Given the description of an element on the screen output the (x, y) to click on. 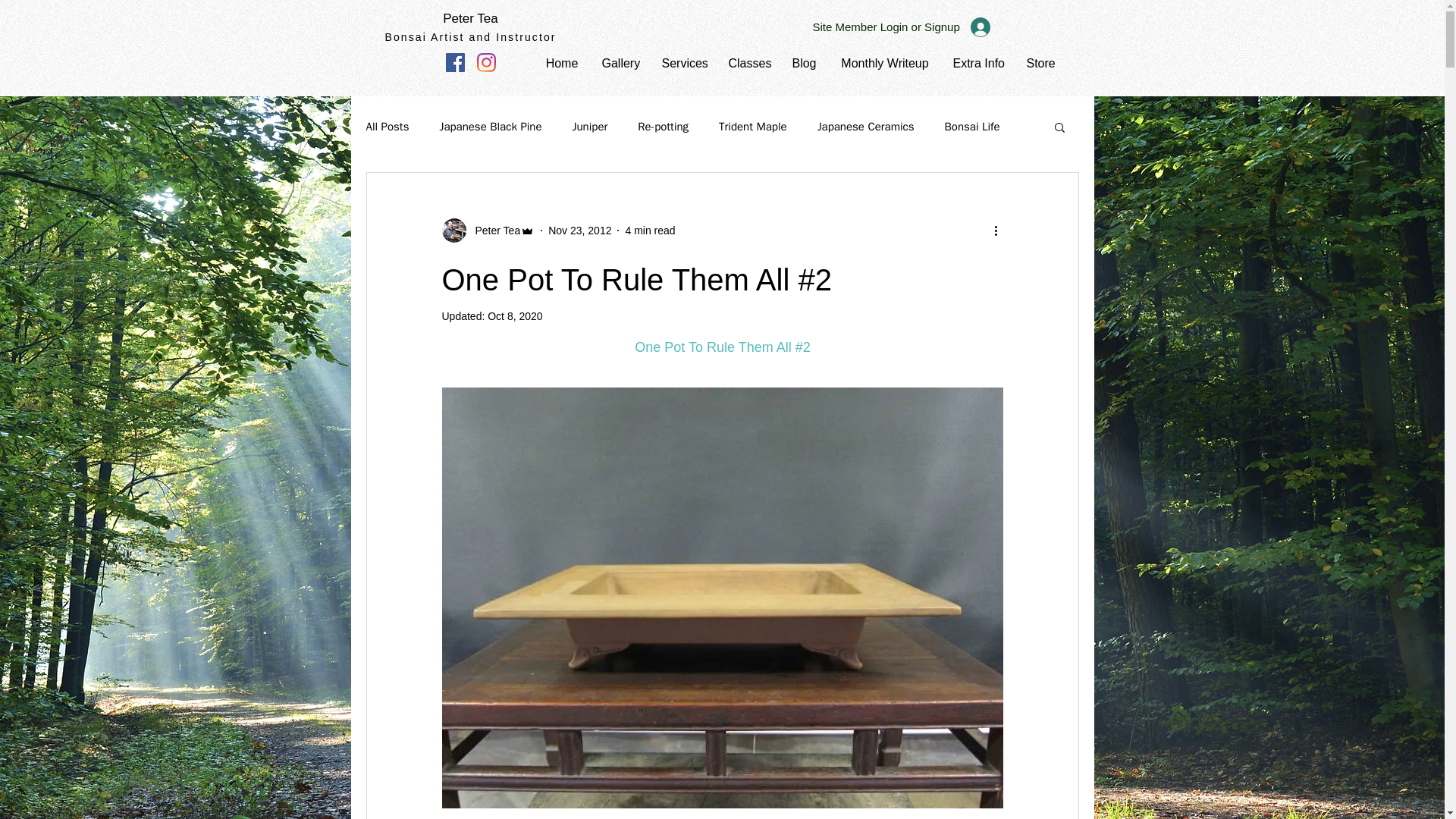
Nov 23, 2012 (579, 230)
Peter Tea (492, 230)
Classes (748, 63)
Gallery (619, 63)
Services (683, 63)
4 min read (649, 230)
Oct 8, 2020 (514, 316)
Site Member Login or Signup (901, 26)
Home (562, 63)
Bonsai Artist and Instructor (470, 37)
